Given the description of an element on the screen output the (x, y) to click on. 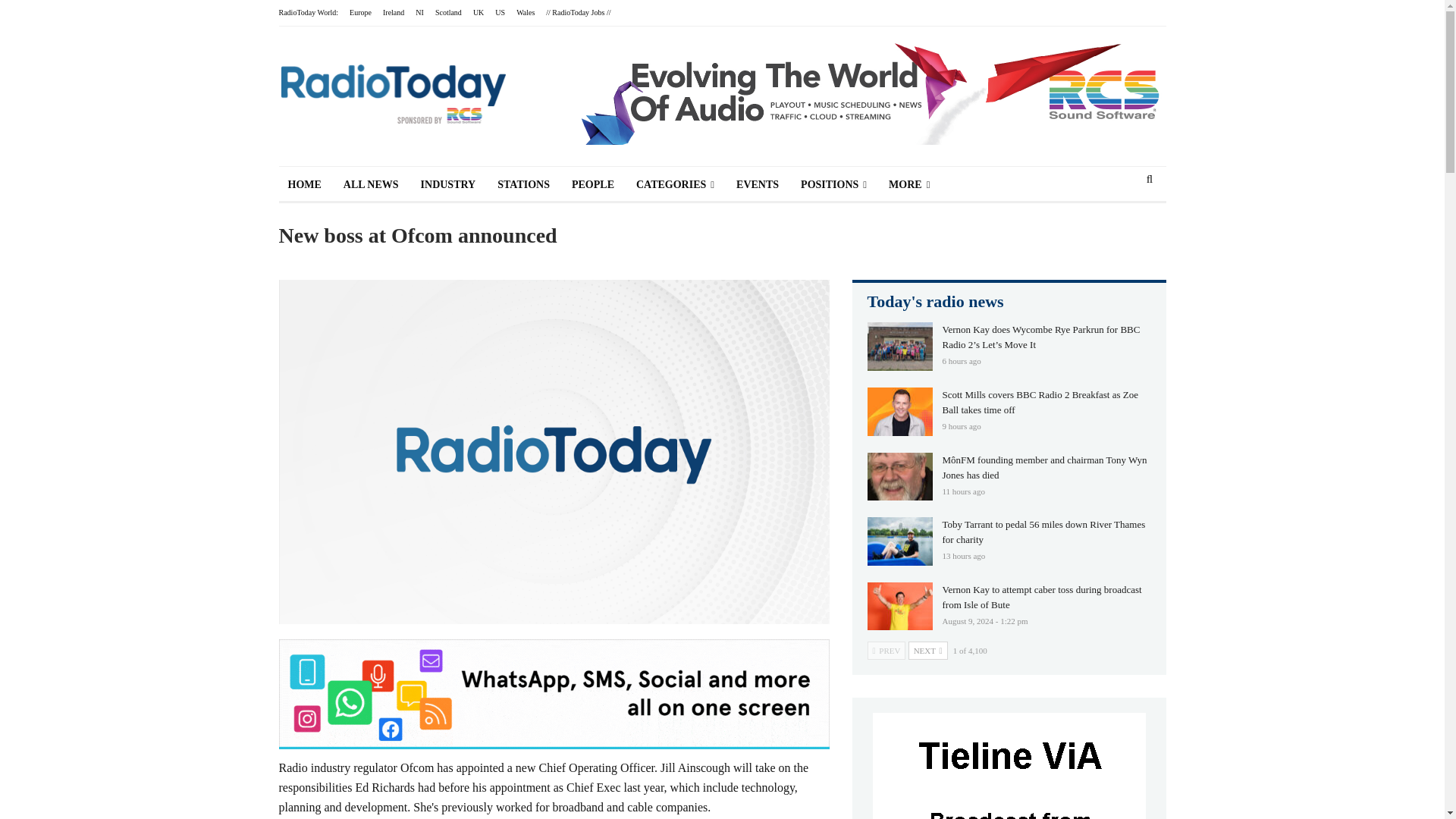
CATEGORIES (675, 185)
PEOPLE (592, 185)
UK (478, 12)
Wales (525, 12)
STATIONS (523, 185)
ALL NEWS (370, 185)
INDUSTRY (448, 185)
US (500, 12)
RadioToday World: (309, 12)
Scotland (448, 12)
